Given the description of an element on the screen output the (x, y) to click on. 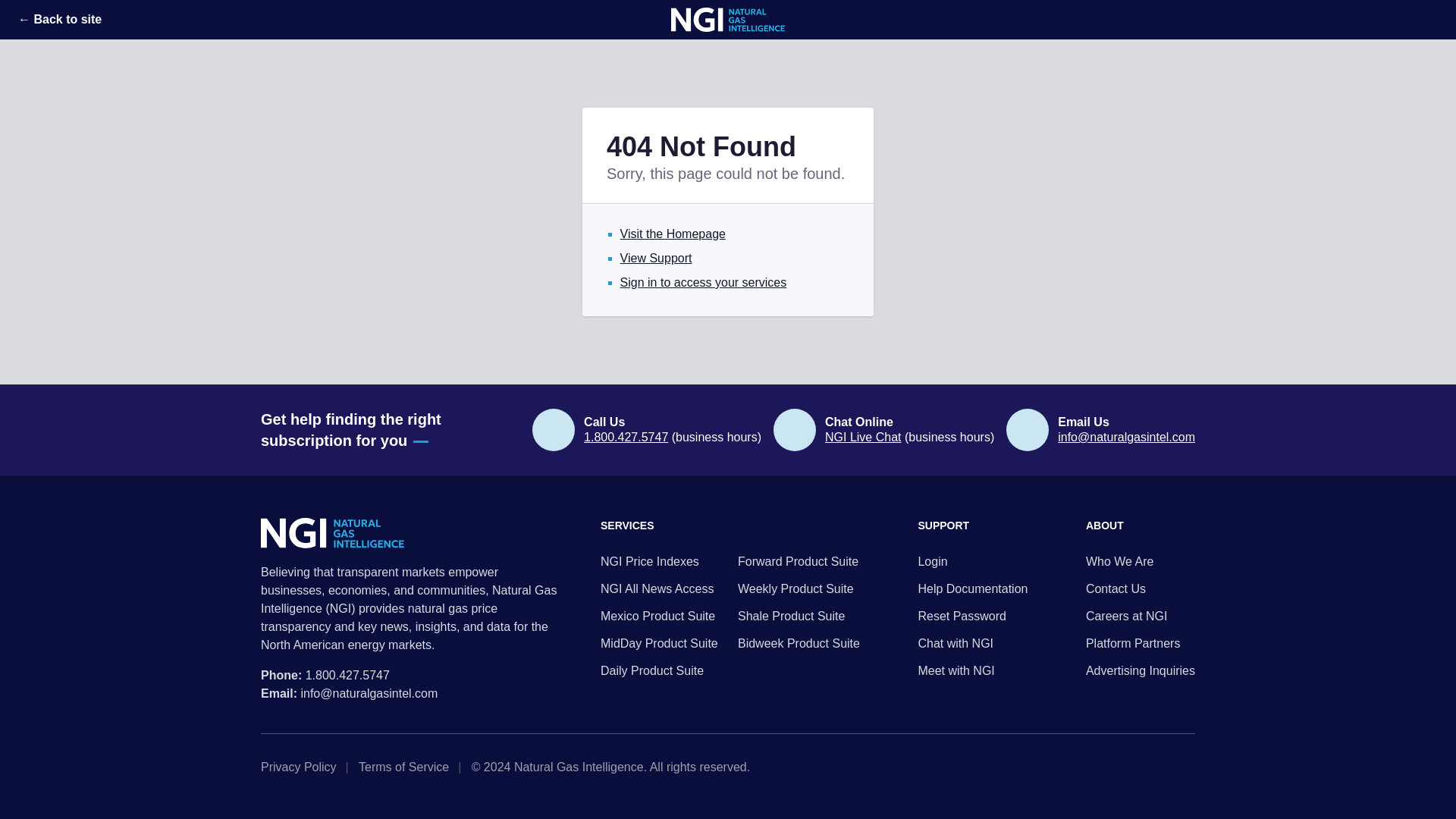
Contact Us (1140, 588)
Chat with NGI (972, 643)
Shale Product Suite (799, 616)
X (1140, 766)
Forward Product Suite (799, 561)
Mexico Product Suite (660, 616)
Advertising Inquiries (1140, 670)
Daily Product Suite (660, 670)
NGI Price Indexes (660, 561)
Careers at NGI (1140, 616)
